Given the description of an element on the screen output the (x, y) to click on. 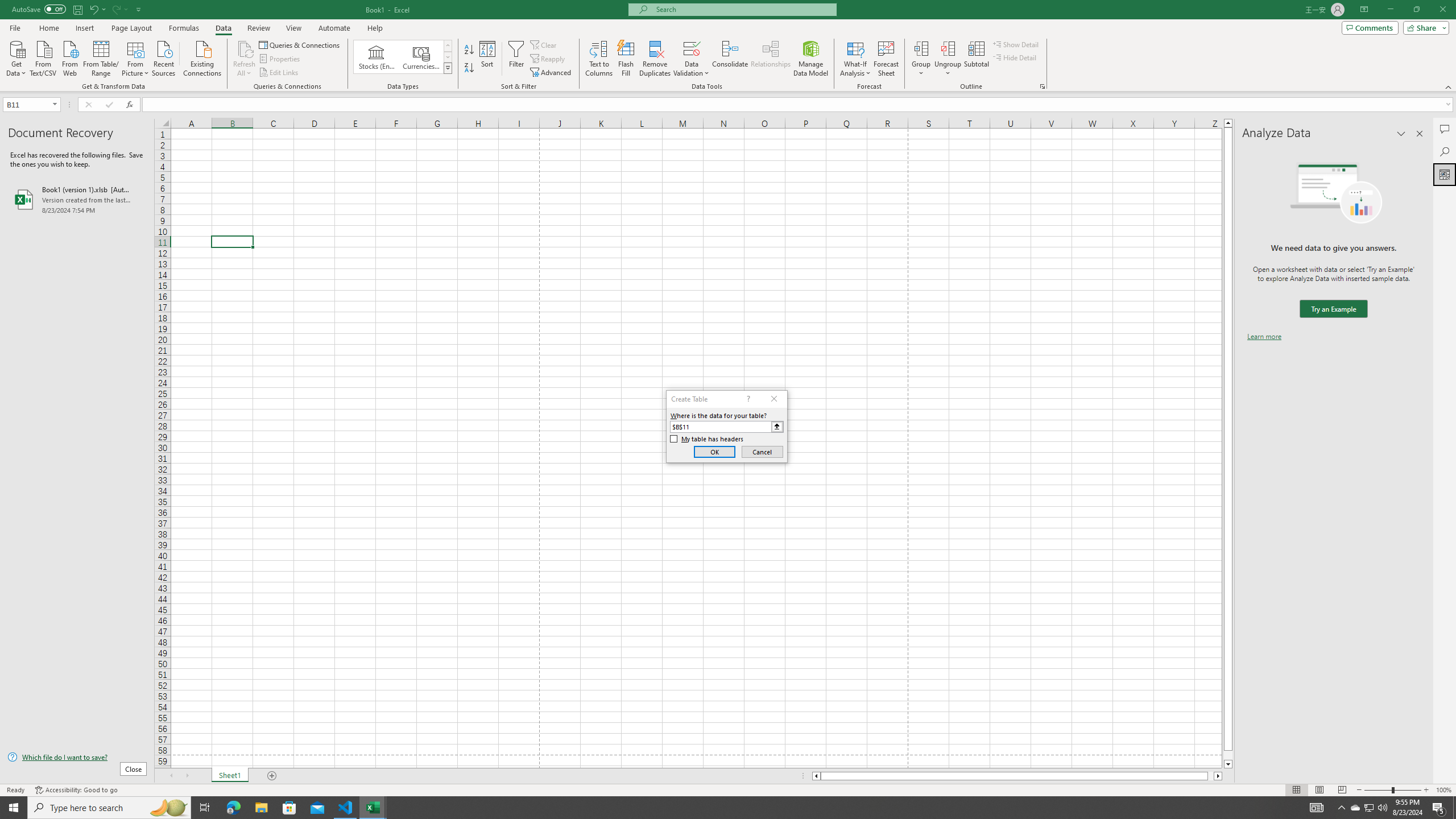
Reapply (548, 58)
Task Pane Options (1400, 133)
Book1 (version 1).xlsb  [AutoRecovered] (77, 199)
Sort Z to A (469, 67)
Relationships (770, 58)
Data Types (448, 67)
Row up (448, 45)
Filter (515, 58)
Sort... (487, 58)
